Given the description of an element on the screen output the (x, y) to click on. 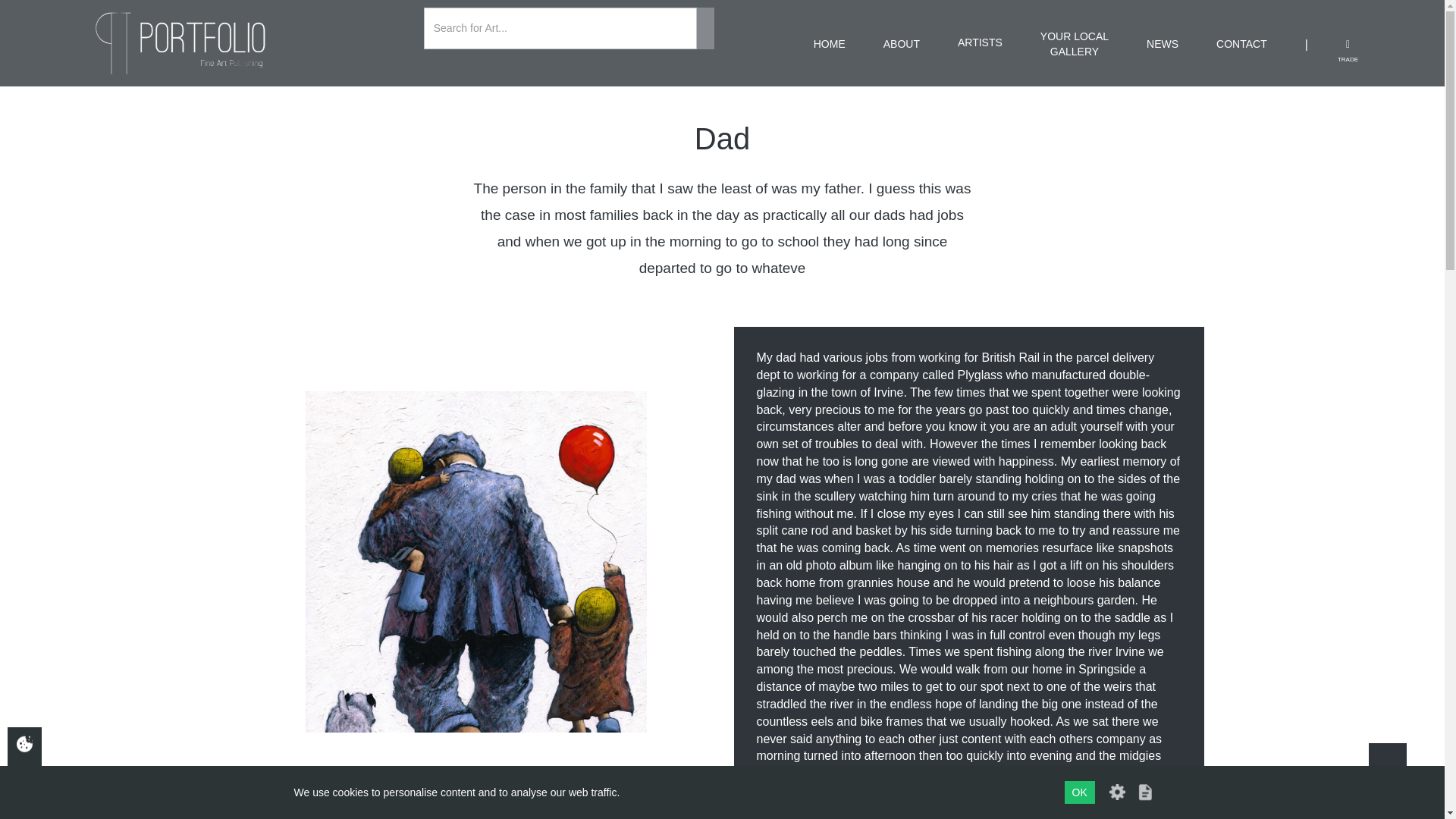
CONTACT (1240, 44)
HOME (829, 44)
ABOUT (901, 44)
ARTISTS (980, 55)
NEWS (1162, 44)
Back To Top (1074, 44)
Image 1 of Dad (1387, 761)
